Given the description of an element on the screen output the (x, y) to click on. 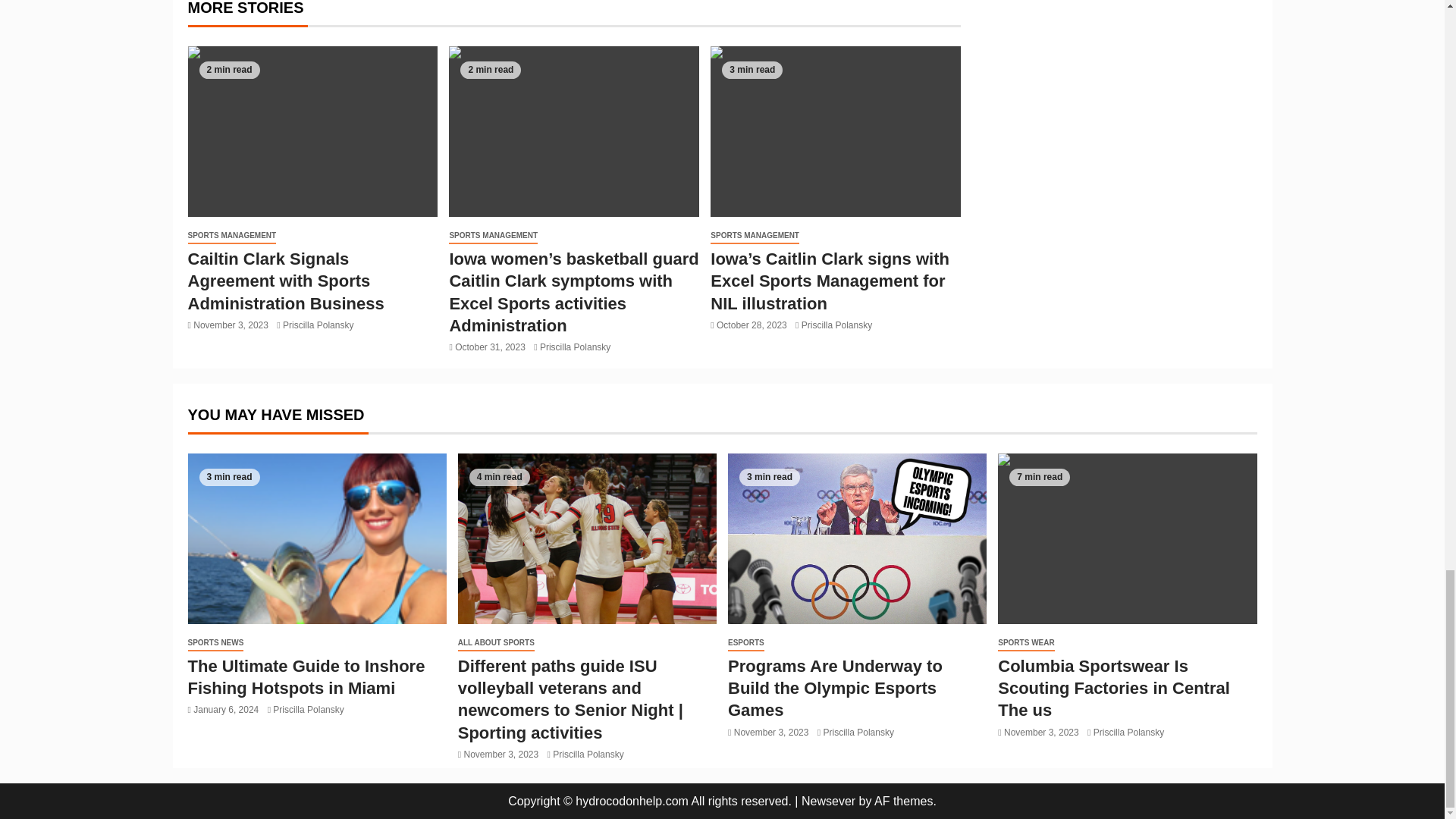
The Ultimate Guide to Inshore Fishing Hotspots in Miami (316, 538)
